Given the description of an element on the screen output the (x, y) to click on. 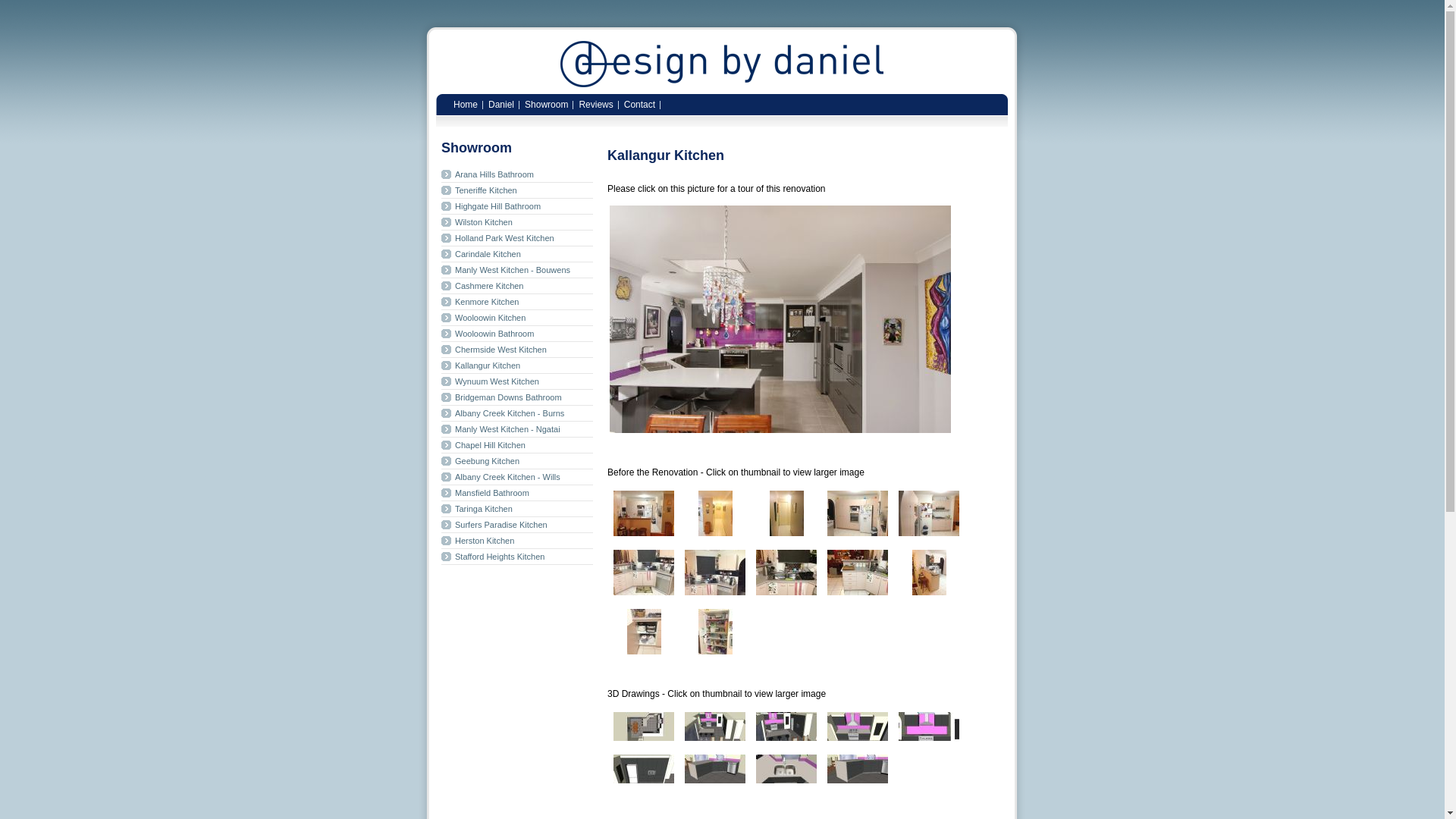
Albany Creek Kitchen - Wills Element type: text (517, 477)
Manly West Kitchen - Ngatai Element type: text (517, 429)
Kallangur Kitchen Element type: text (517, 365)
Home Element type: text (465, 103)
Wooloowin Bathroom Element type: text (517, 334)
Daniel Element type: text (501, 103)
Wilston Kitchen Element type: text (517, 222)
Carindale Kitchen Element type: text (517, 254)
Manly West Kitchen - Bouwens Element type: text (517, 270)
Stafford Heights Kitchen Element type: text (517, 556)
Showroom Element type: text (546, 103)
Wooloowin Kitchen Element type: text (517, 318)
Teneriffe Kitchen Element type: text (517, 190)
Highgate Hill Bathroom Element type: text (517, 206)
Kenmore Kitchen Element type: text (517, 302)
Cashmere Kitchen Element type: text (517, 286)
Wynuum West Kitchen Element type: text (517, 381)
Chermside West Kitchen Element type: text (517, 349)
Reviews Element type: text (595, 103)
Holland Park West Kitchen Element type: text (517, 238)
Albany Creek Kitchen - Burns Element type: text (517, 413)
Mansfield Bathroom Element type: text (517, 493)
Taringa Kitchen Element type: text (517, 509)
Bridgeman Downs Bathroom Element type: text (517, 397)
Arana Hills Bathroom Element type: text (517, 174)
Geebung Kitchen Element type: text (517, 461)
Chapel Hill Kitchen Element type: text (517, 445)
Herston Kitchen Element type: text (517, 541)
Contact Element type: text (639, 103)
Surfers Paradise Kitchen Element type: text (517, 525)
